Given the description of an element on the screen output the (x, y) to click on. 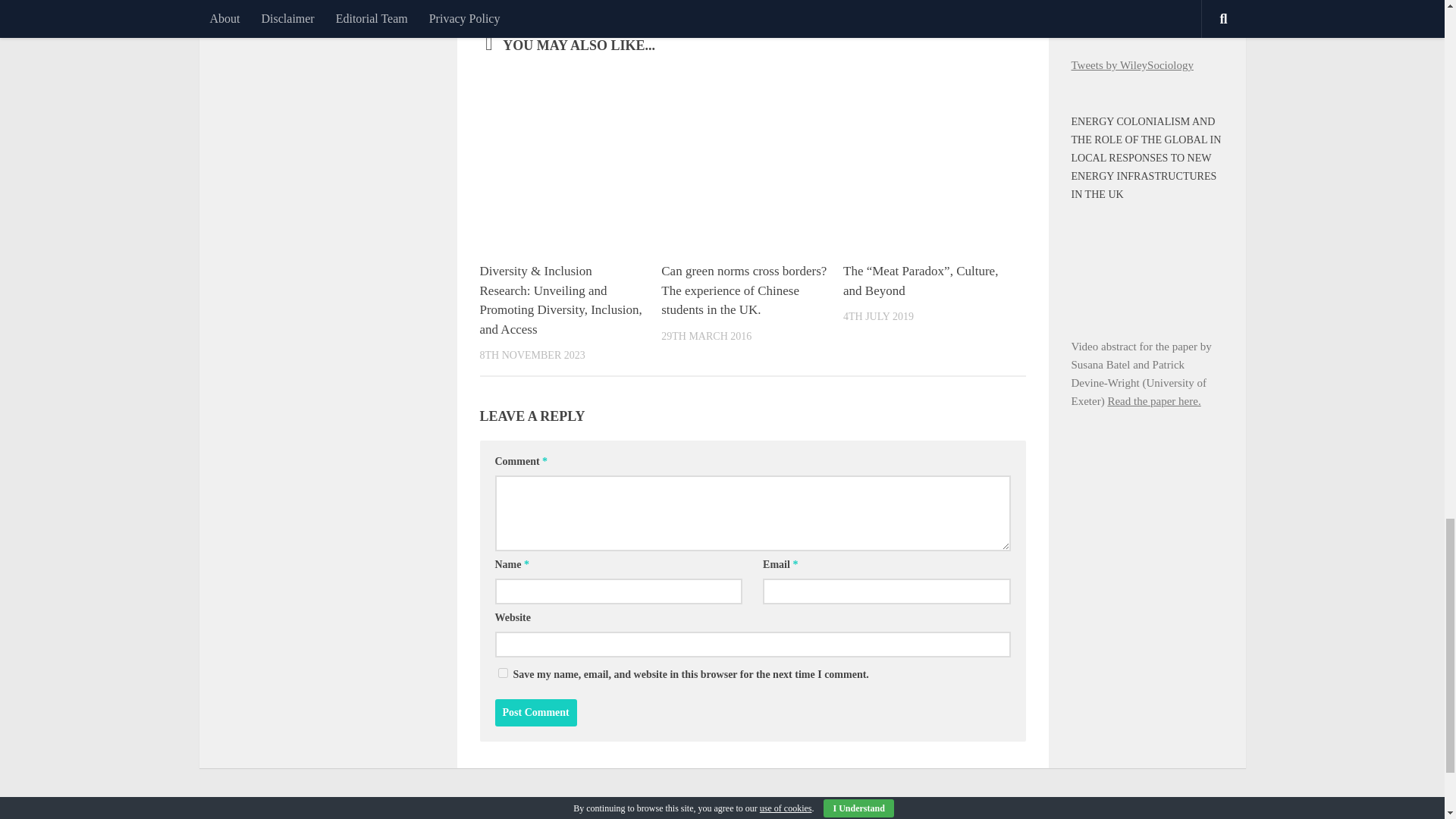
Post Comment (535, 712)
yes (501, 673)
